Given the description of an element on the screen output the (x, y) to click on. 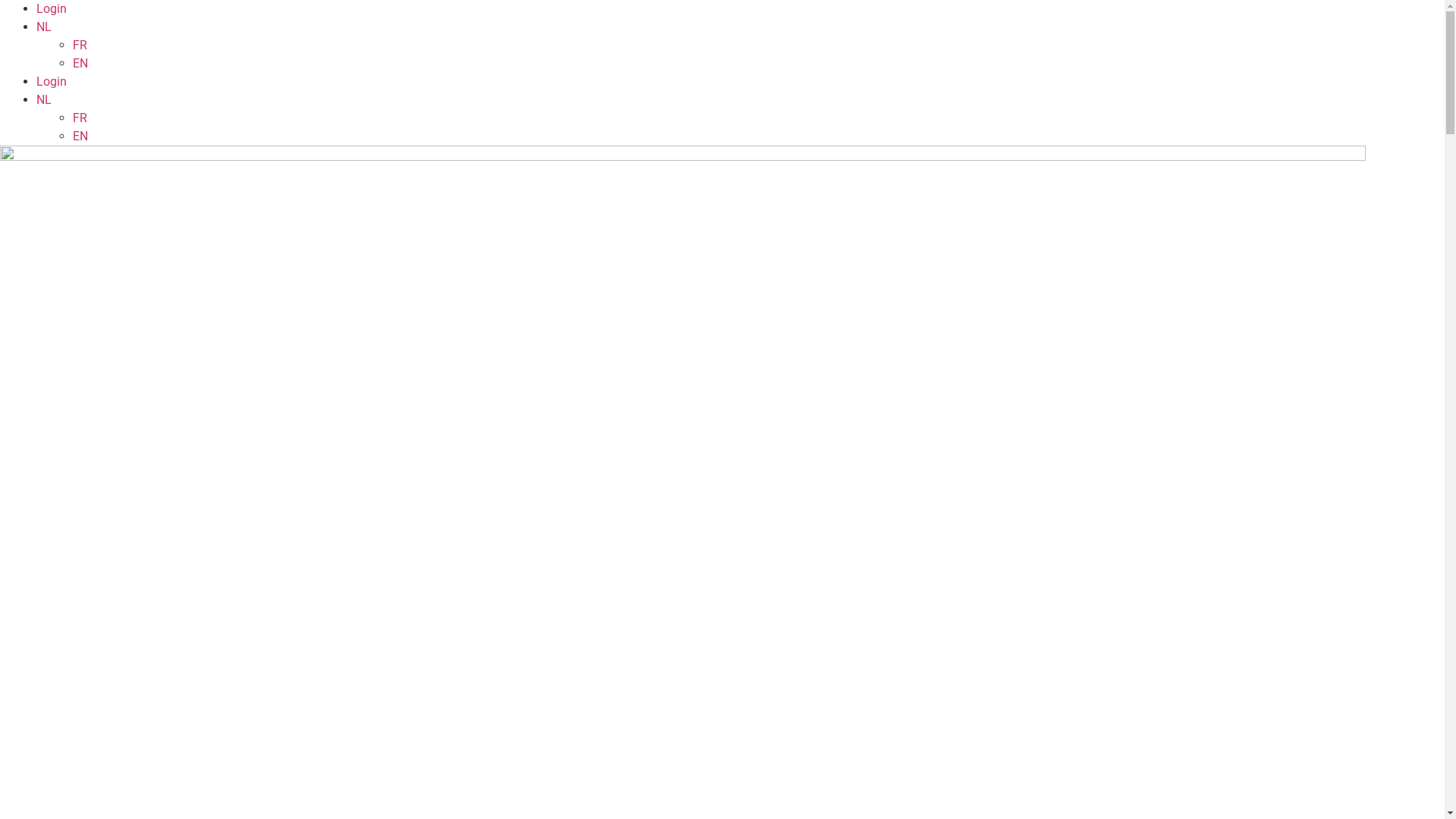
NL Element type: text (43, 99)
NL Element type: text (43, 26)
Login Element type: text (51, 81)
EN Element type: text (79, 63)
Login Element type: text (51, 8)
FR Element type: text (79, 44)
EN Element type: text (79, 135)
FR Element type: text (79, 117)
